Given the description of an element on the screen output the (x, y) to click on. 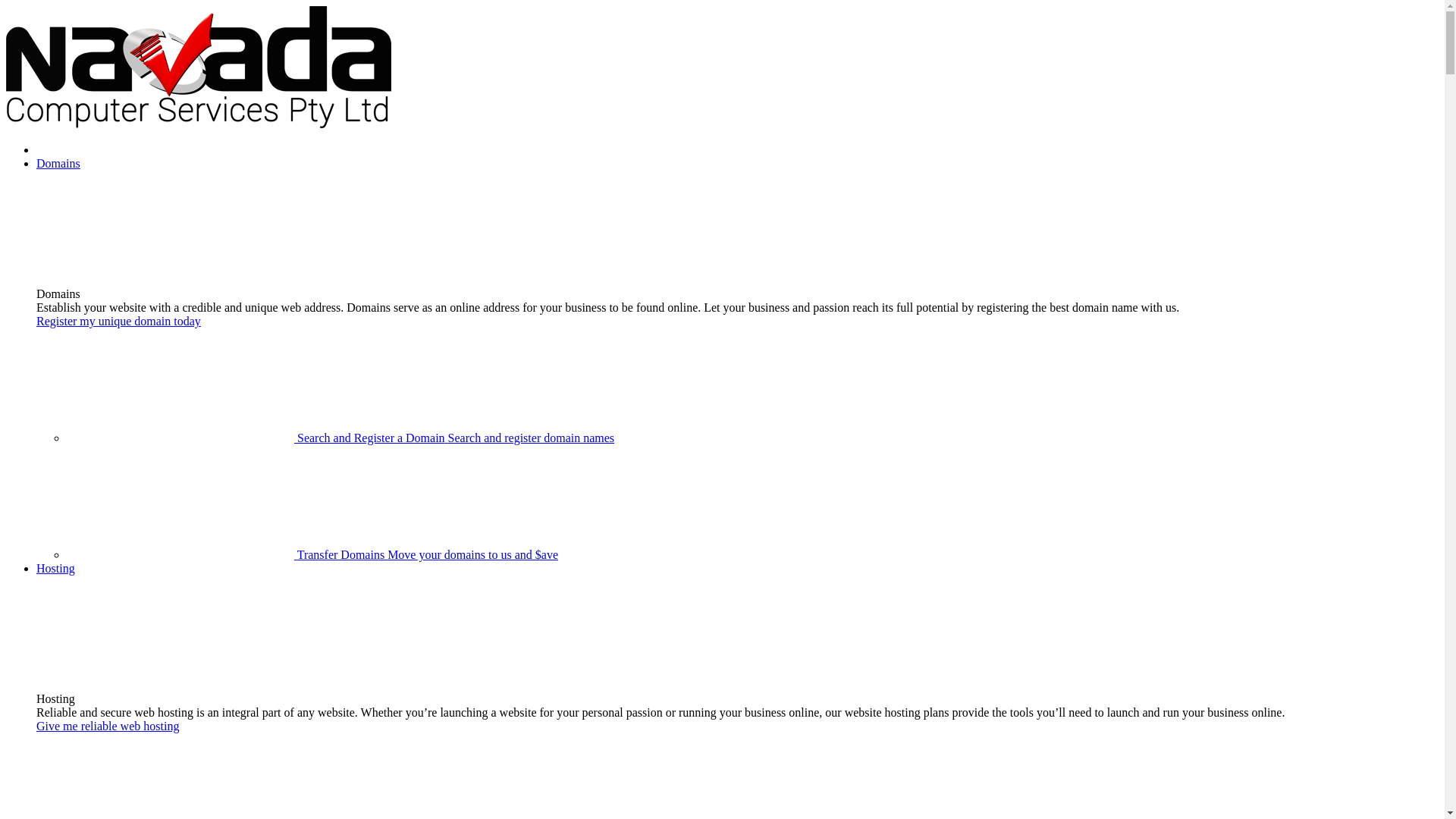
Transfer Domains Move your domains to us and $ave Element type: text (312, 554)
Register my unique domain today Element type: text (118, 320)
Give me reliable web hosting Element type: text (107, 725)
Hosting Element type: text (55, 567)
Domains Element type: text (58, 162)
